Given the description of an element on the screen output the (x, y) to click on. 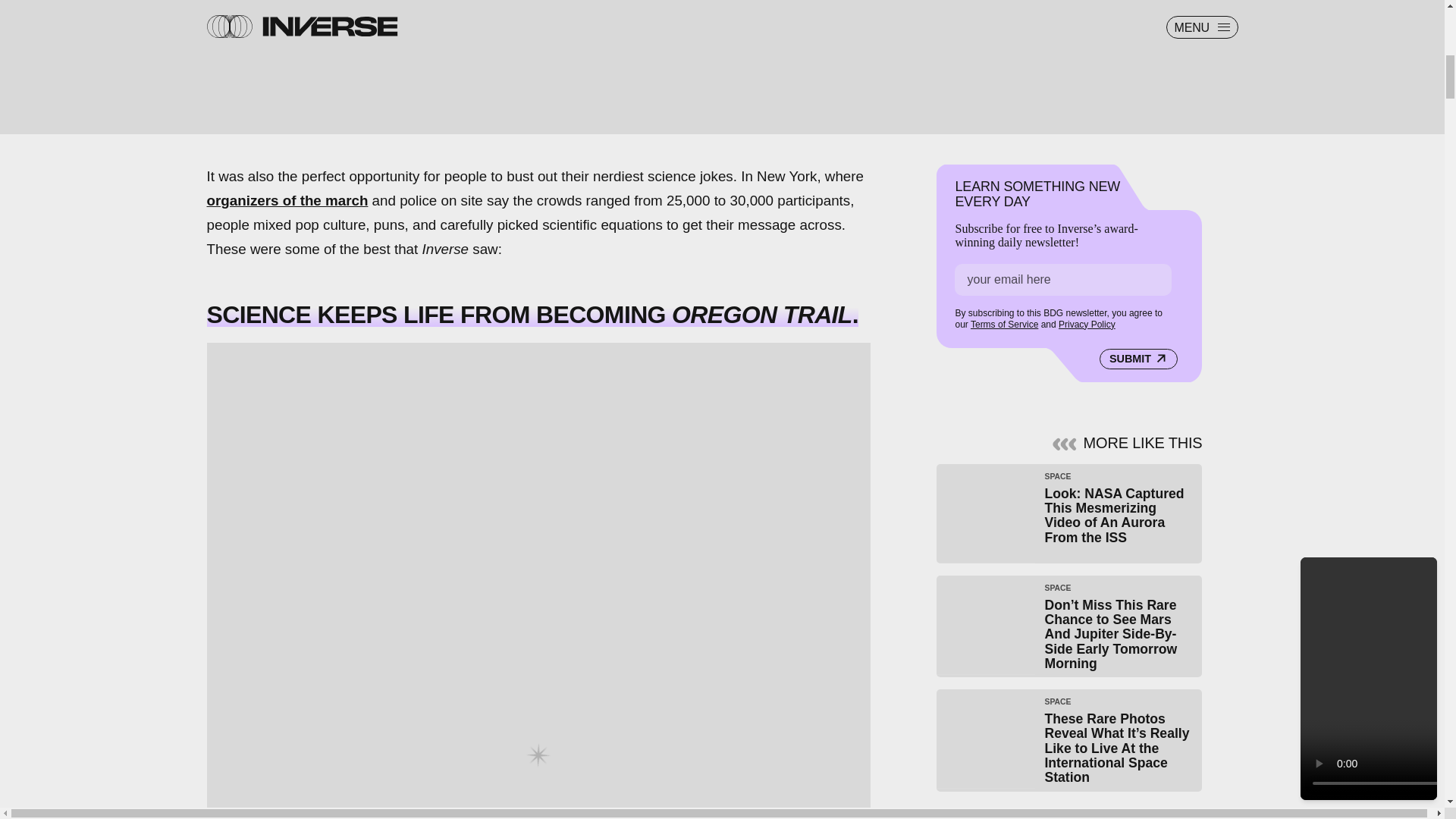
SUBMIT (1138, 358)
organizers of the march (287, 200)
Privacy Policy (1086, 324)
Terms of Service (1004, 324)
